Given the description of an element on the screen output the (x, y) to click on. 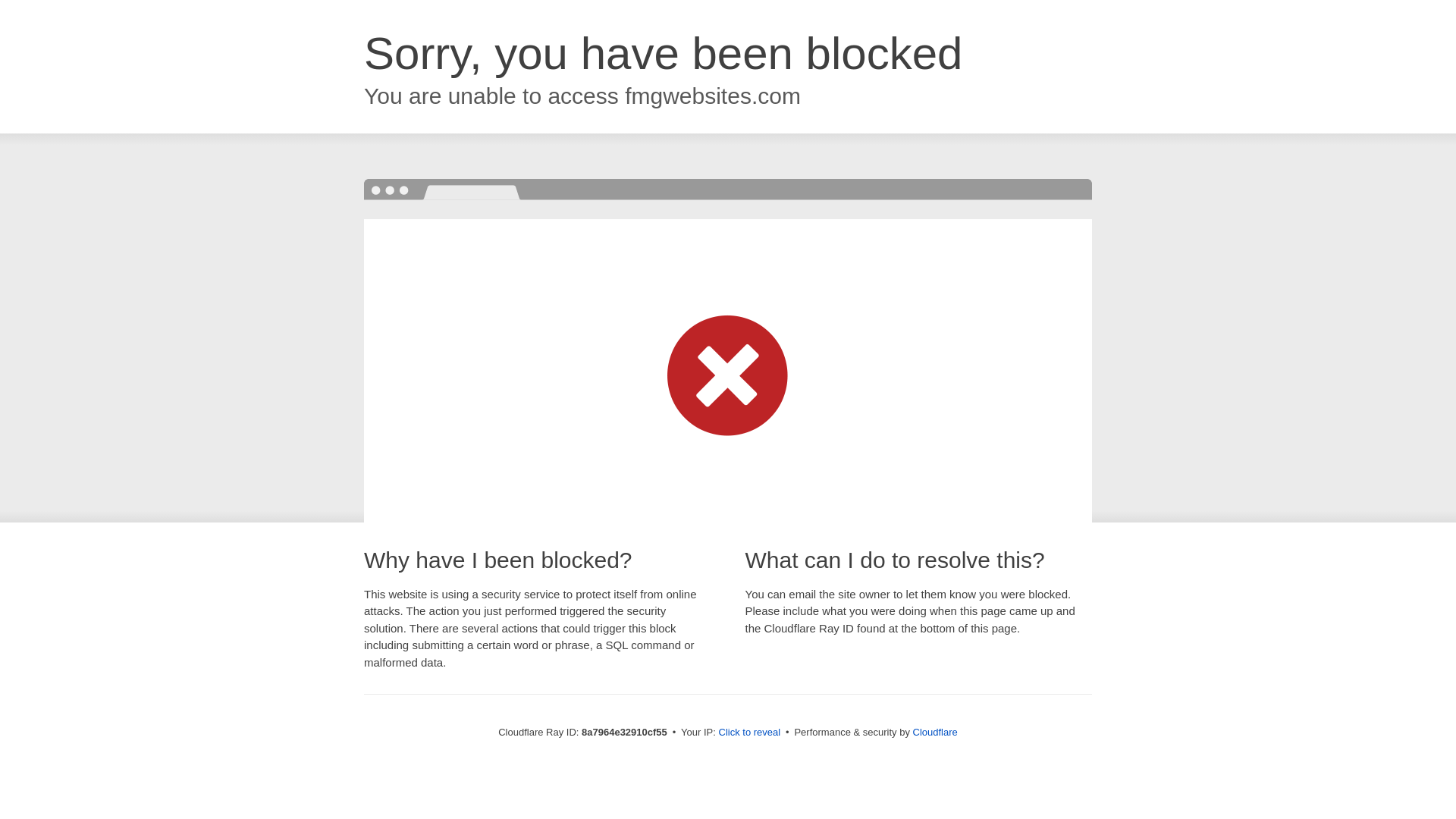
Cloudflare (935, 731)
Click to reveal (749, 732)
